Given the description of an element on the screen output the (x, y) to click on. 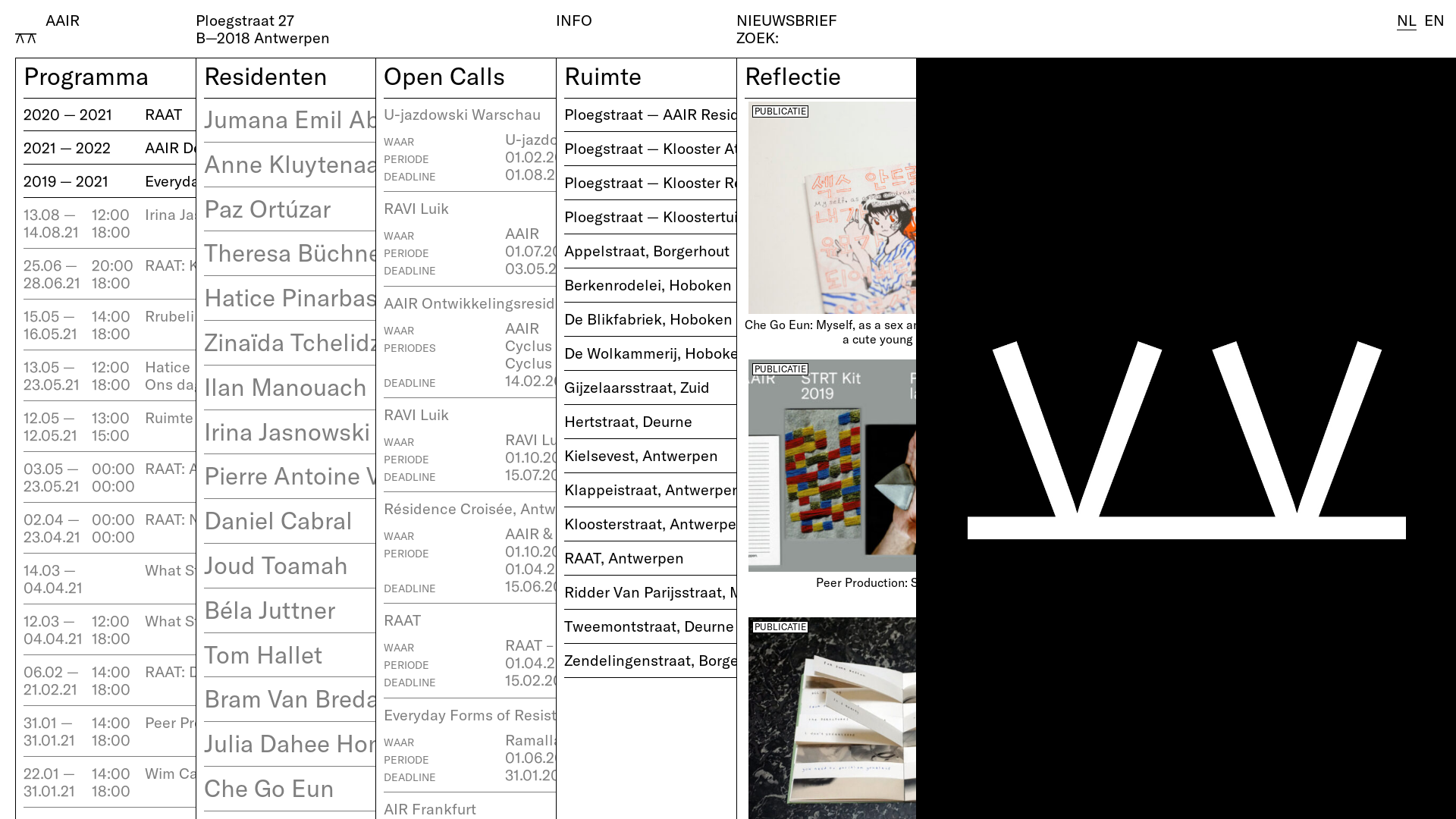
NL Element type: text (1406, 19)
EN Element type: text (1434, 19)
AAIR Element type: text (62, 19)
